Given the description of an element on the screen output the (x, y) to click on. 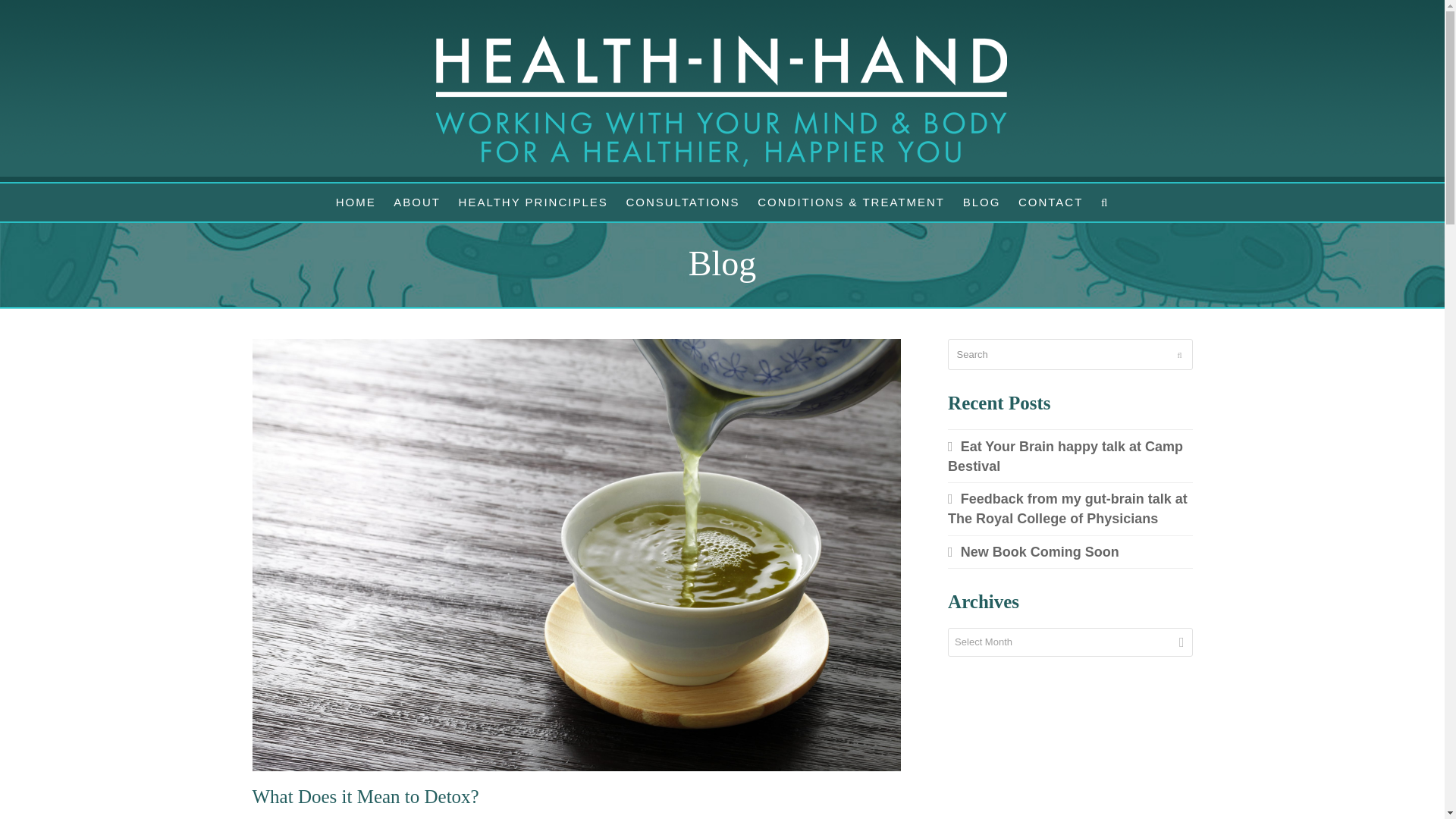
ABOUT (416, 202)
Eat Your Brain happy talk at Camp Bestival (1064, 456)
HOME (356, 202)
HEALTHY PRINCIPLES (533, 202)
BLOG (982, 202)
New Book Coming Soon (1033, 551)
CONSULTATIONS (681, 202)
CONTACT (1050, 202)
